Given the description of an element on the screen output the (x, y) to click on. 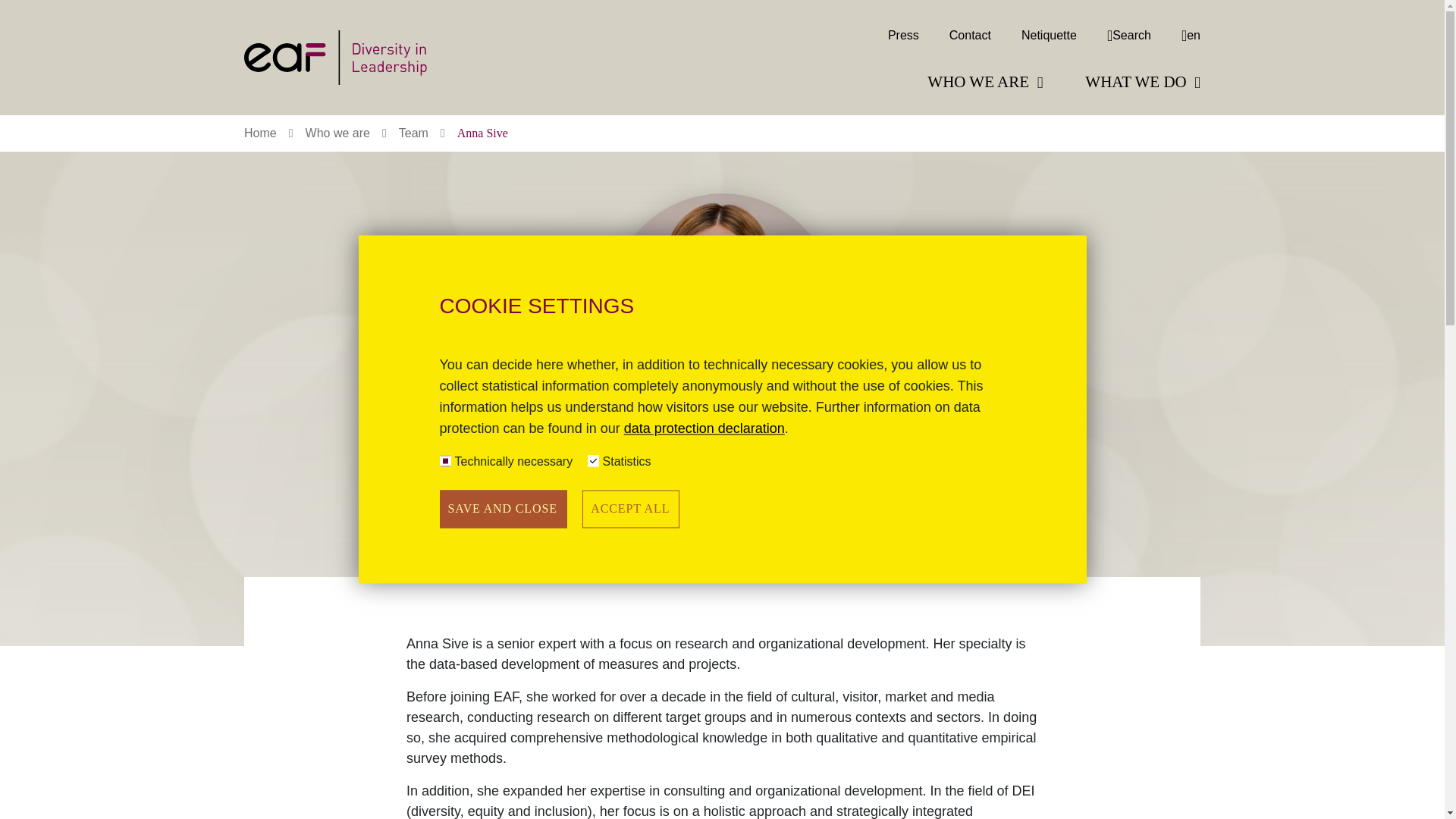
Search (1129, 35)
en (1182, 35)
WHO WE ARE (984, 82)
Press (903, 35)
Netiquette (1049, 35)
Contact (970, 35)
WHAT WE DO (1138, 82)
